Given the description of an element on the screen output the (x, y) to click on. 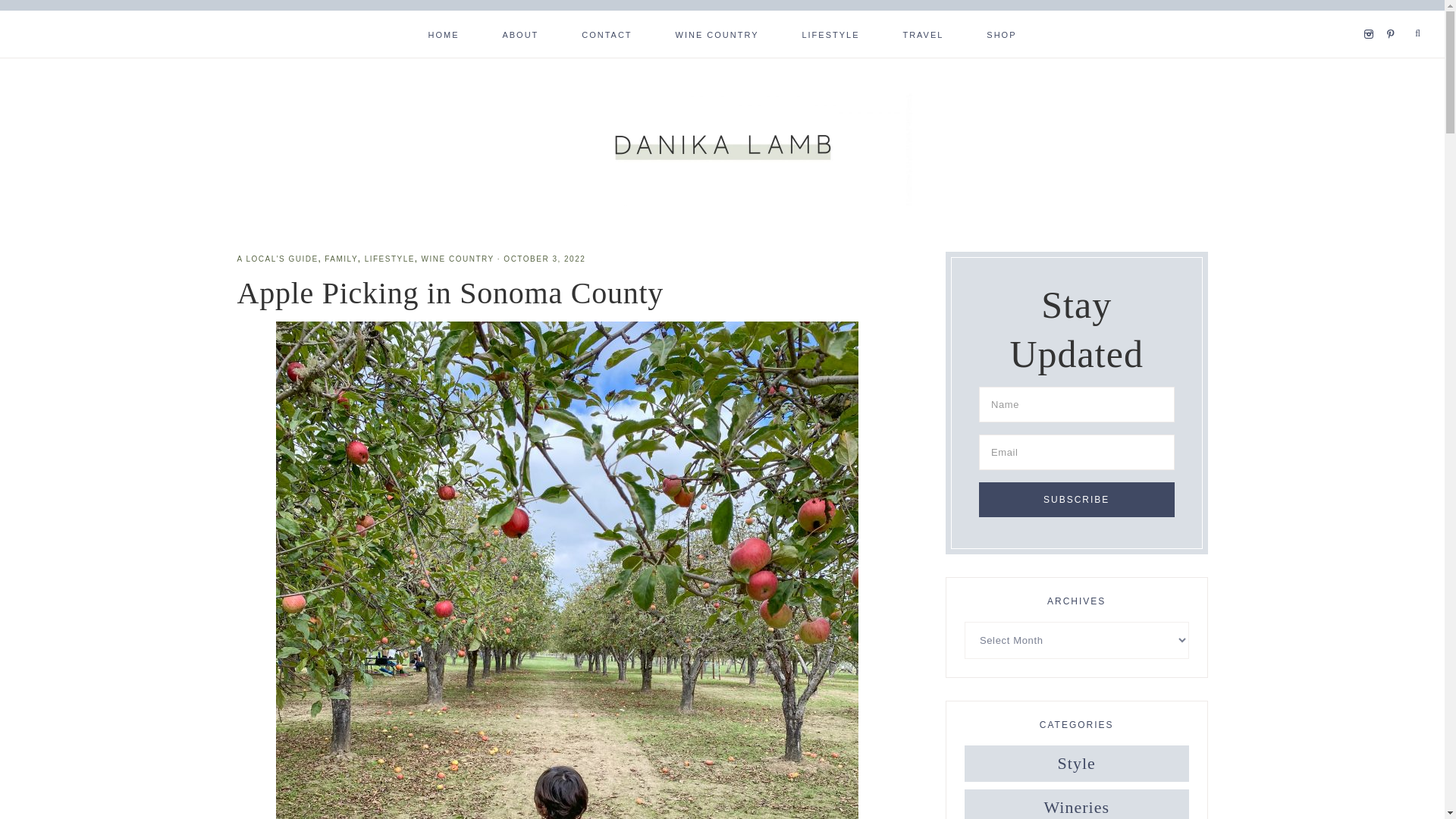
SHOP (1000, 33)
HOME (443, 33)
ABOUT (519, 33)
WINE COUNTRY (717, 33)
Pinterest (1393, 14)
WINE COUNTRY (458, 258)
TRAVEL (922, 33)
FAMILY (341, 258)
LIFESTYLE (389, 258)
CONTACT (606, 33)
Subscribe (1076, 499)
Instagram (1371, 14)
LIFESTYLE (830, 33)
A LOCAL'S GUIDE (276, 258)
